Given the description of an element on the screen output the (x, y) to click on. 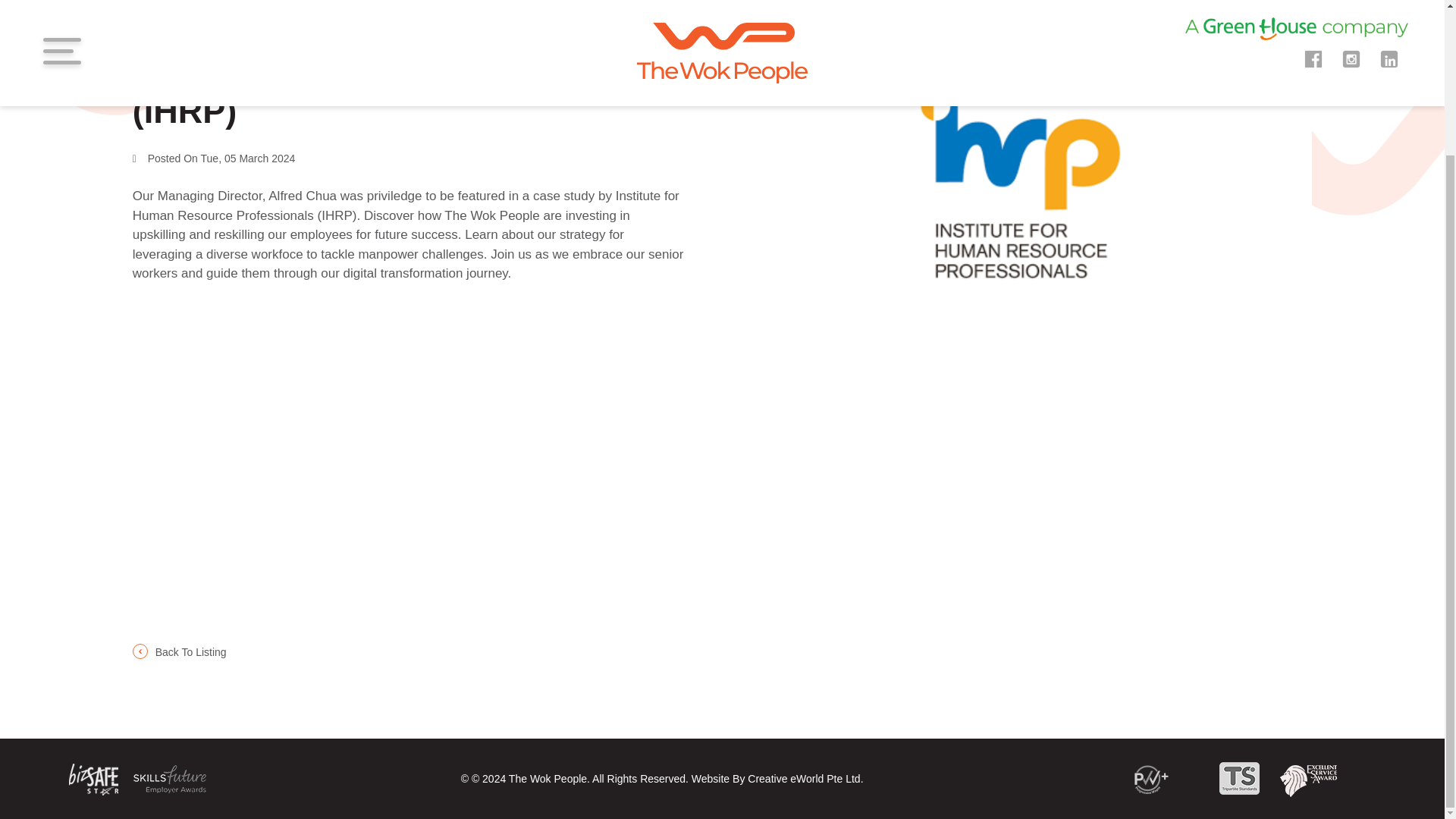
Creative eWorld Pte Ltd (804, 778)
Back To Listing (179, 652)
